Given the description of an element on the screen output the (x, y) to click on. 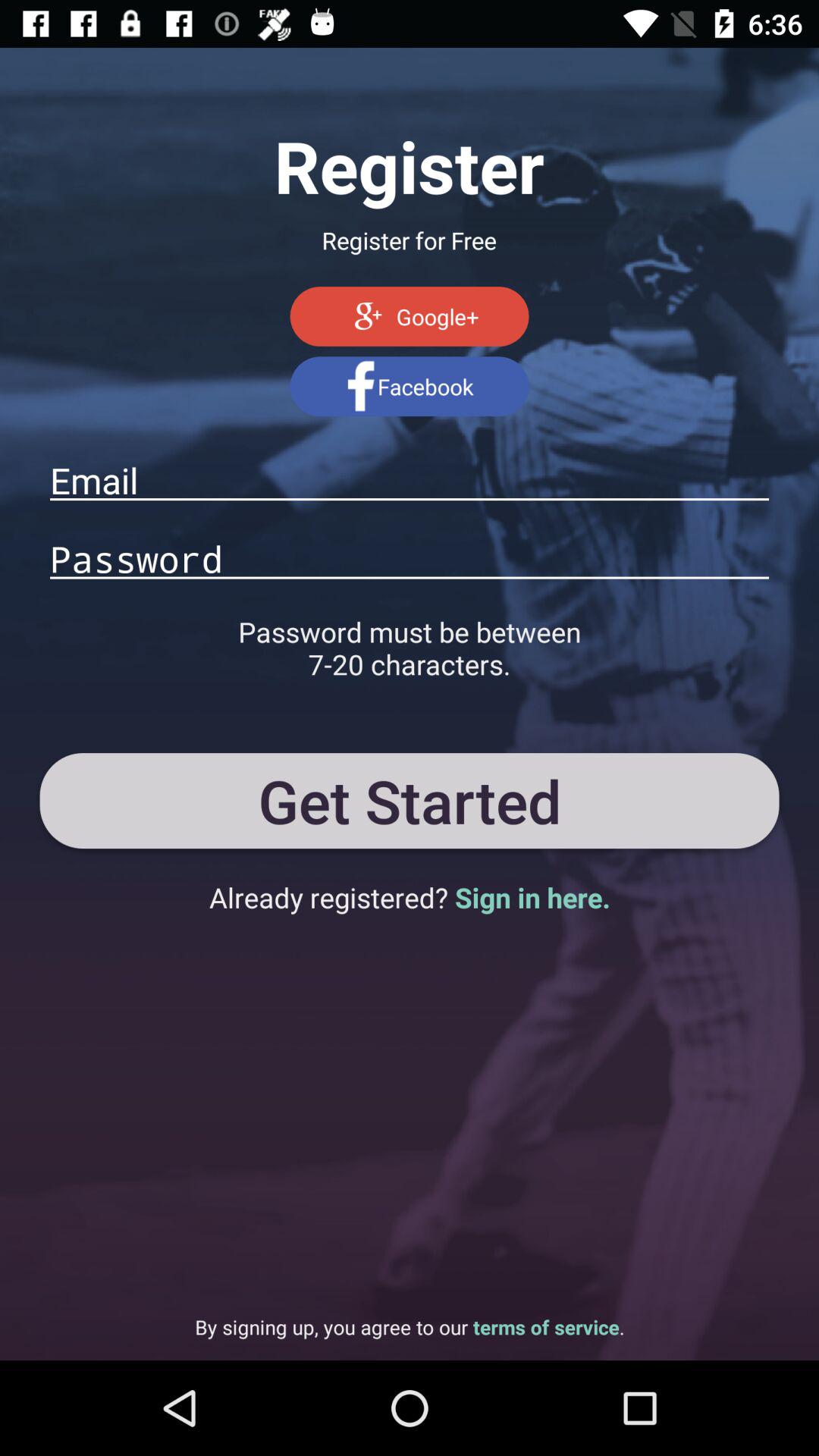
enter email (409, 480)
